Given the description of an element on the screen output the (x, y) to click on. 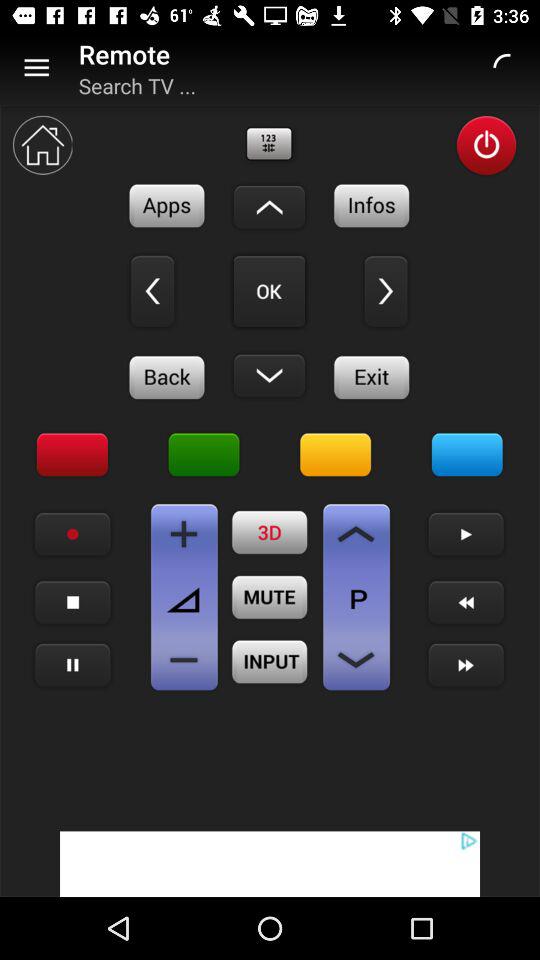
click the ok button (269, 291)
